Given the description of an element on the screen output the (x, y) to click on. 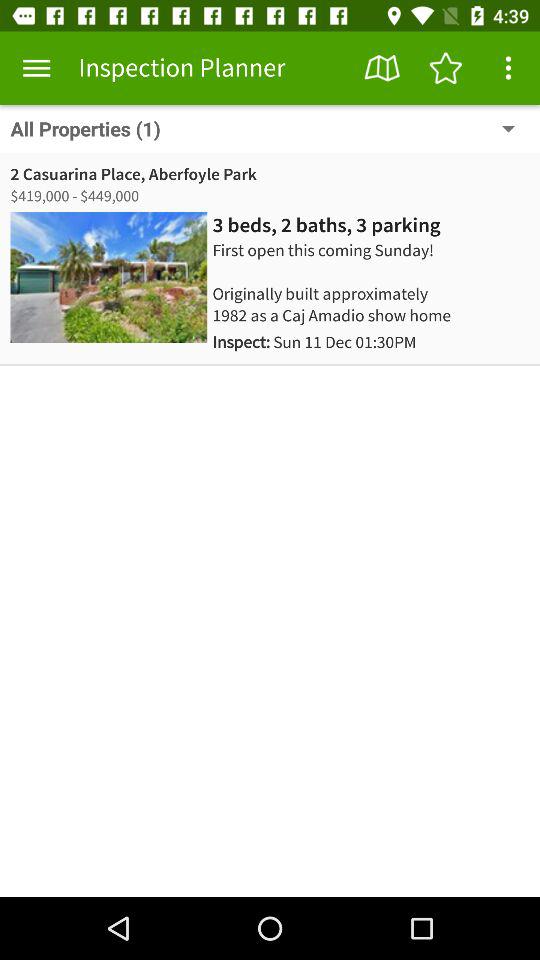
open the item below the first open this item (314, 342)
